Given the description of an element on the screen output the (x, y) to click on. 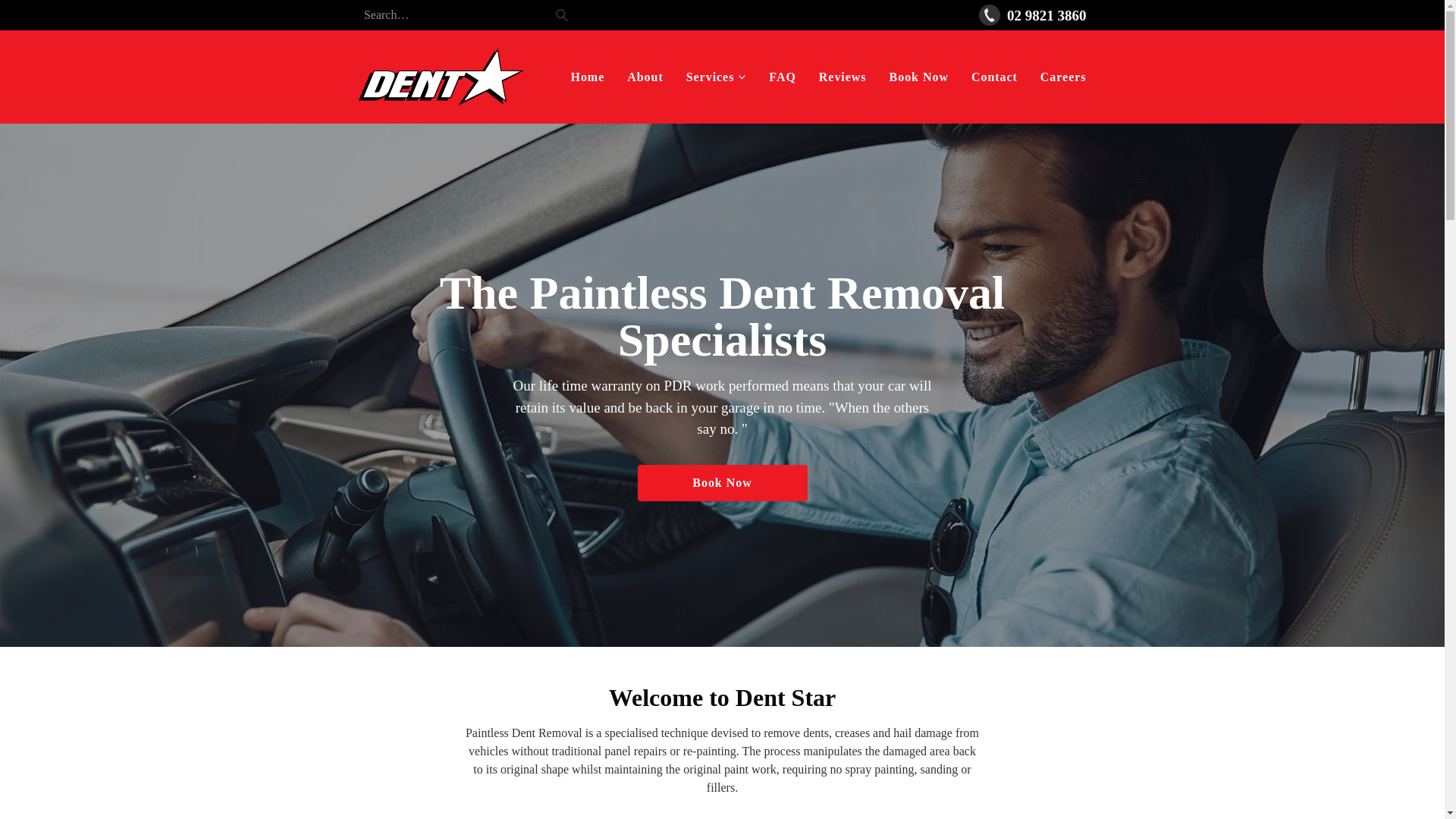
Book Now Element type: text (918, 77)
Reviews Element type: text (842, 77)
Careers Element type: text (1063, 77)
FAQ Element type: text (781, 77)
Contact Element type: text (994, 77)
Services Element type: text (716, 77)
About Element type: text (644, 77)
02 9821 3860 Element type: text (1031, 14)
Search Element type: hover (561, 15)
Book Now Element type: text (721, 482)
Home Element type: text (587, 77)
